Given the description of an element on the screen output the (x, y) to click on. 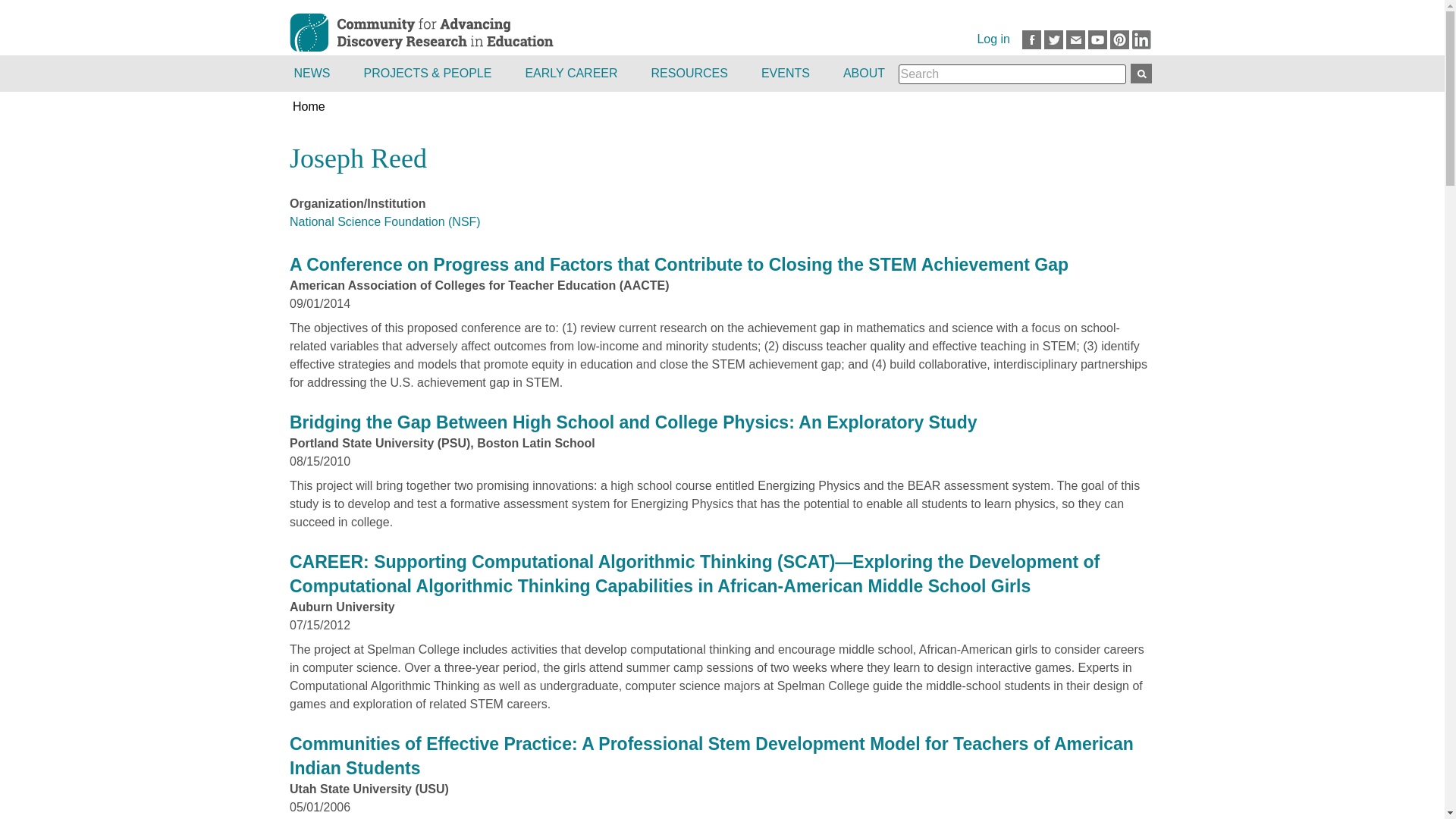
Twitter (1052, 39)
Facebook (1031, 39)
Pinterest (1119, 39)
Projects (430, 73)
Email (1074, 39)
Log in (993, 38)
NEWS (318, 73)
RESOURCES (690, 73)
Youtube (1096, 39)
LinkedIn (1141, 39)
About CADRE (865, 73)
Apply (1141, 73)
EARLY CAREER (571, 73)
EVENTS (786, 73)
